Given the description of an element on the screen output the (x, y) to click on. 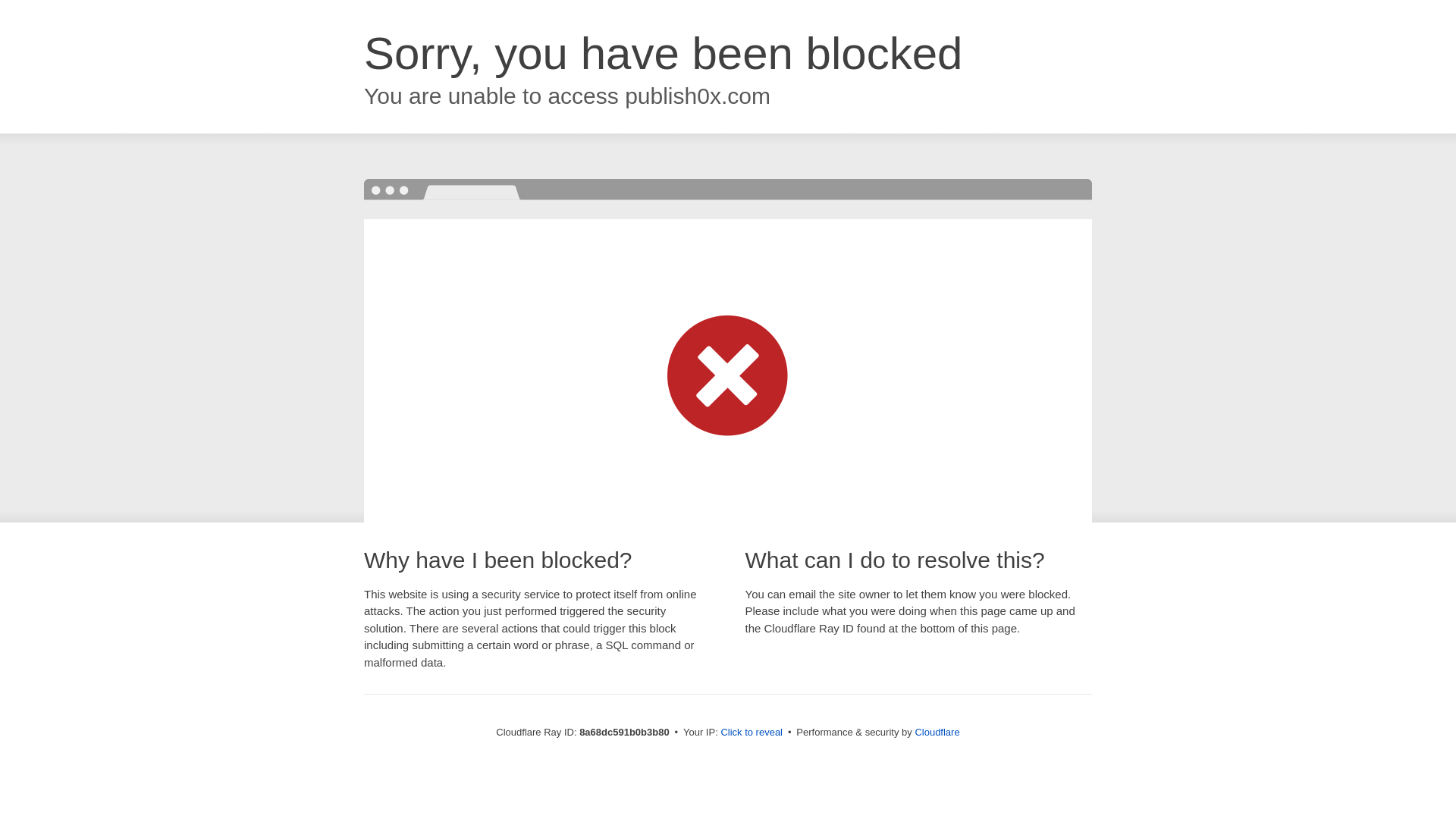
Cloudflare (936, 731)
Click to reveal (751, 732)
